Given the description of an element on the screen output the (x, y) to click on. 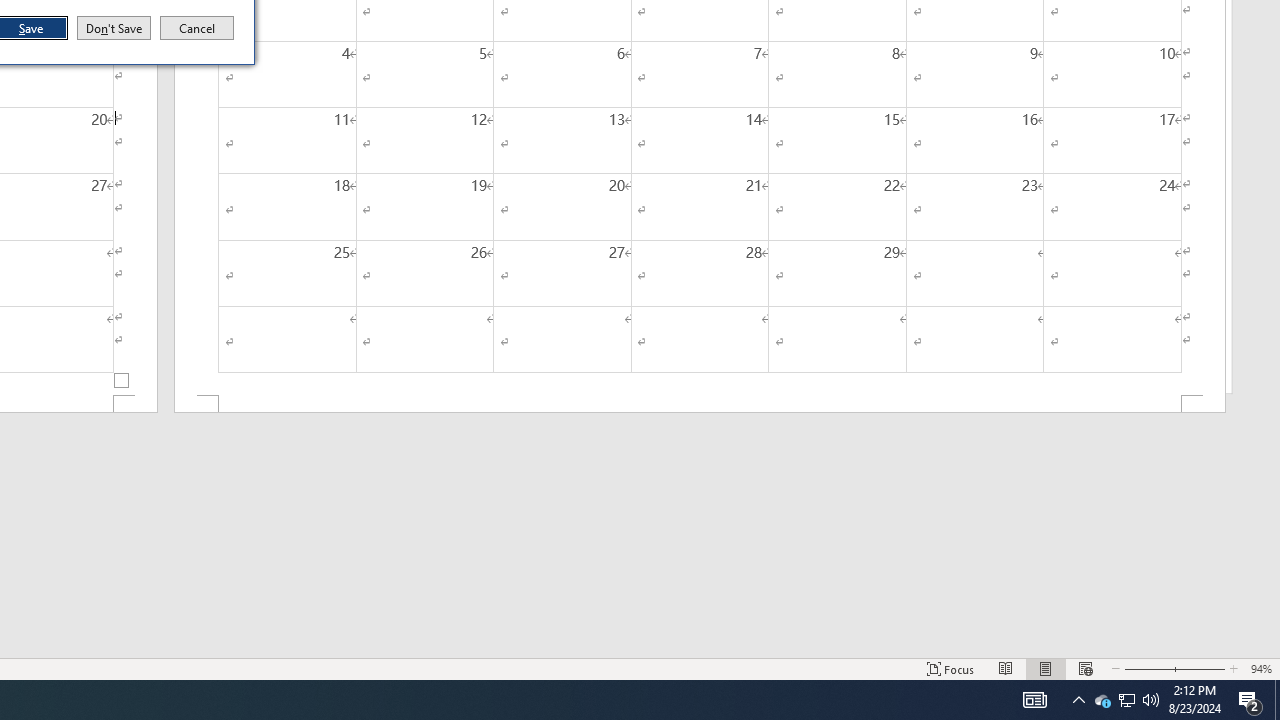
Don't Save (113, 27)
